Given the description of an element on the screen output the (x, y) to click on. 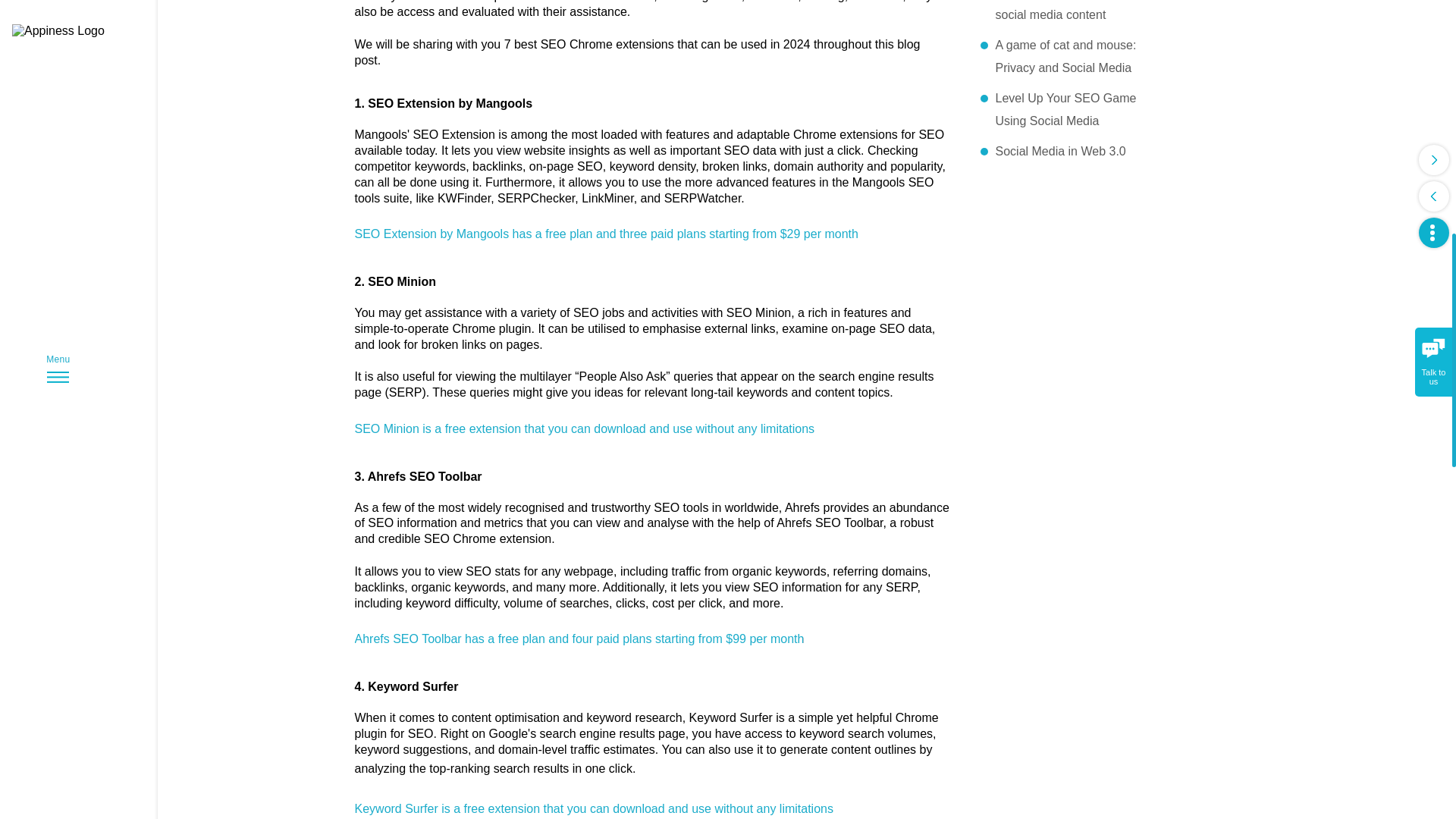
Level Up Your SEO Game Using Social Media (1068, 109)
The secret sauce of your social media content (1068, 13)
A game of cat and mouse: Privacy and Social Media (1068, 56)
Social Media in Web 3.0 (1068, 151)
